Given the description of an element on the screen output the (x, y) to click on. 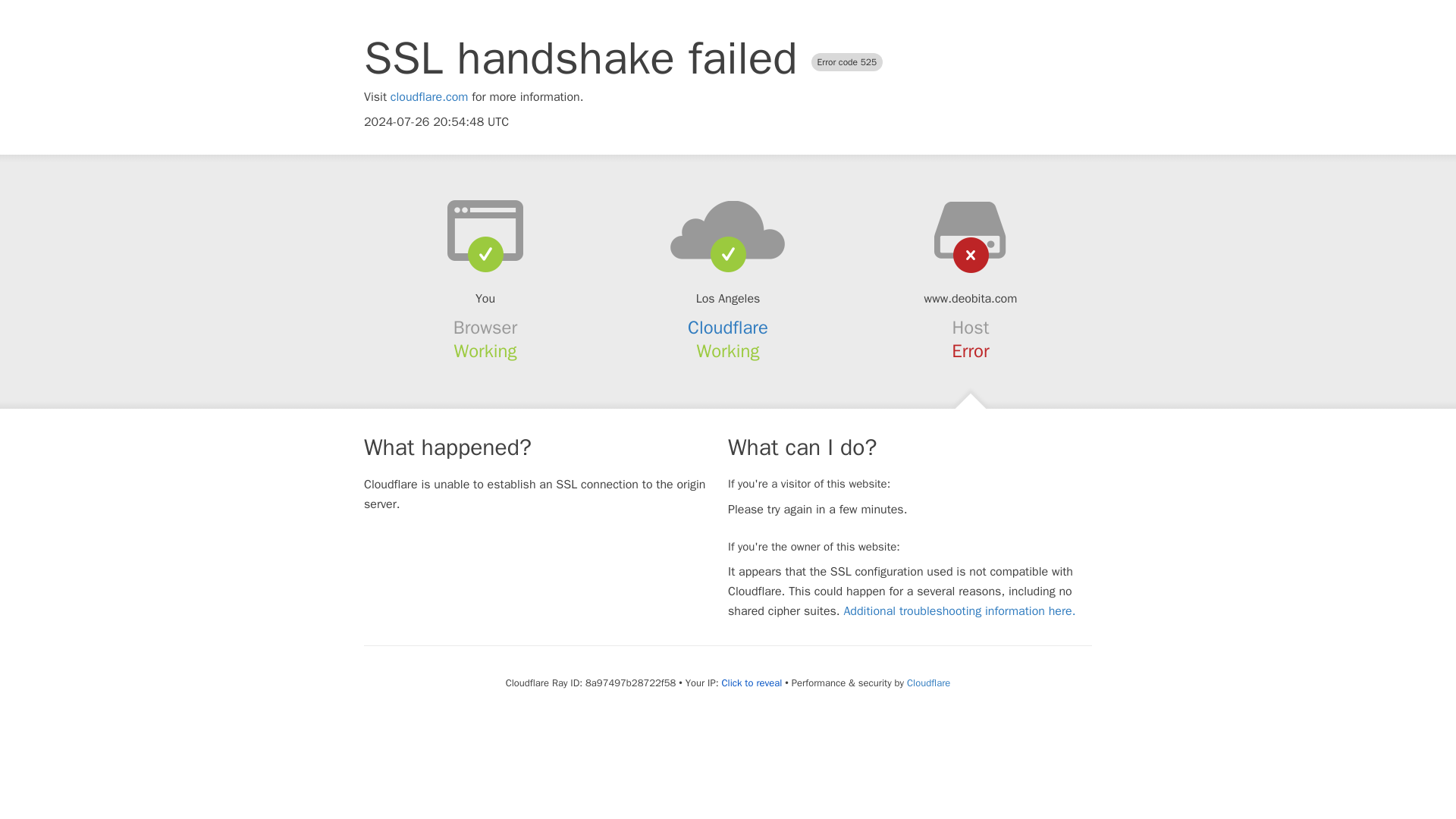
Click to reveal (750, 683)
Additional troubleshooting information here. (959, 611)
Cloudflare (928, 682)
cloudflare.com (429, 96)
Cloudflare (727, 327)
